Given the description of an element on the screen output the (x, y) to click on. 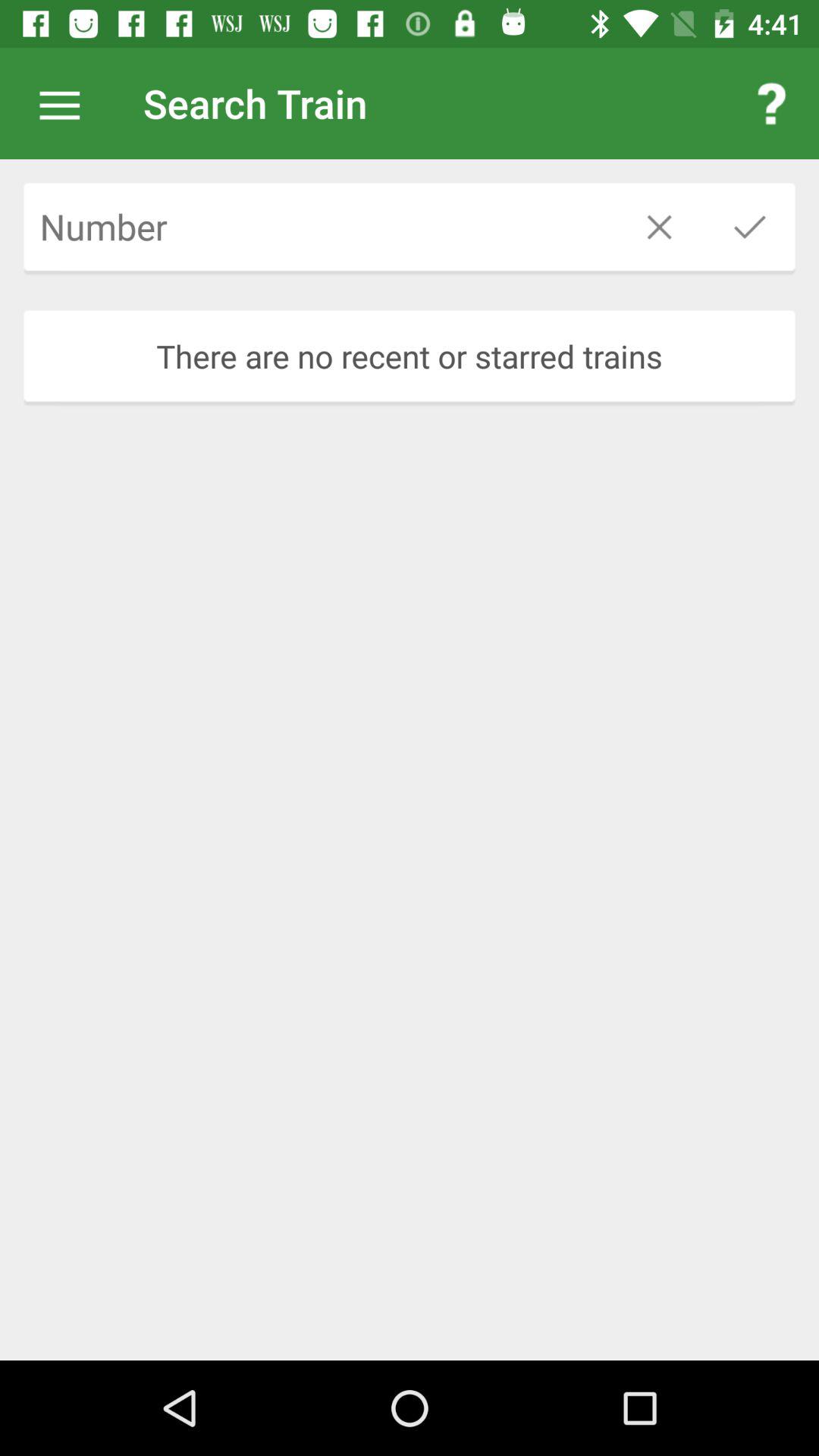
turn off item to the left of the search train icon (67, 103)
